Given the description of an element on the screen output the (x, y) to click on. 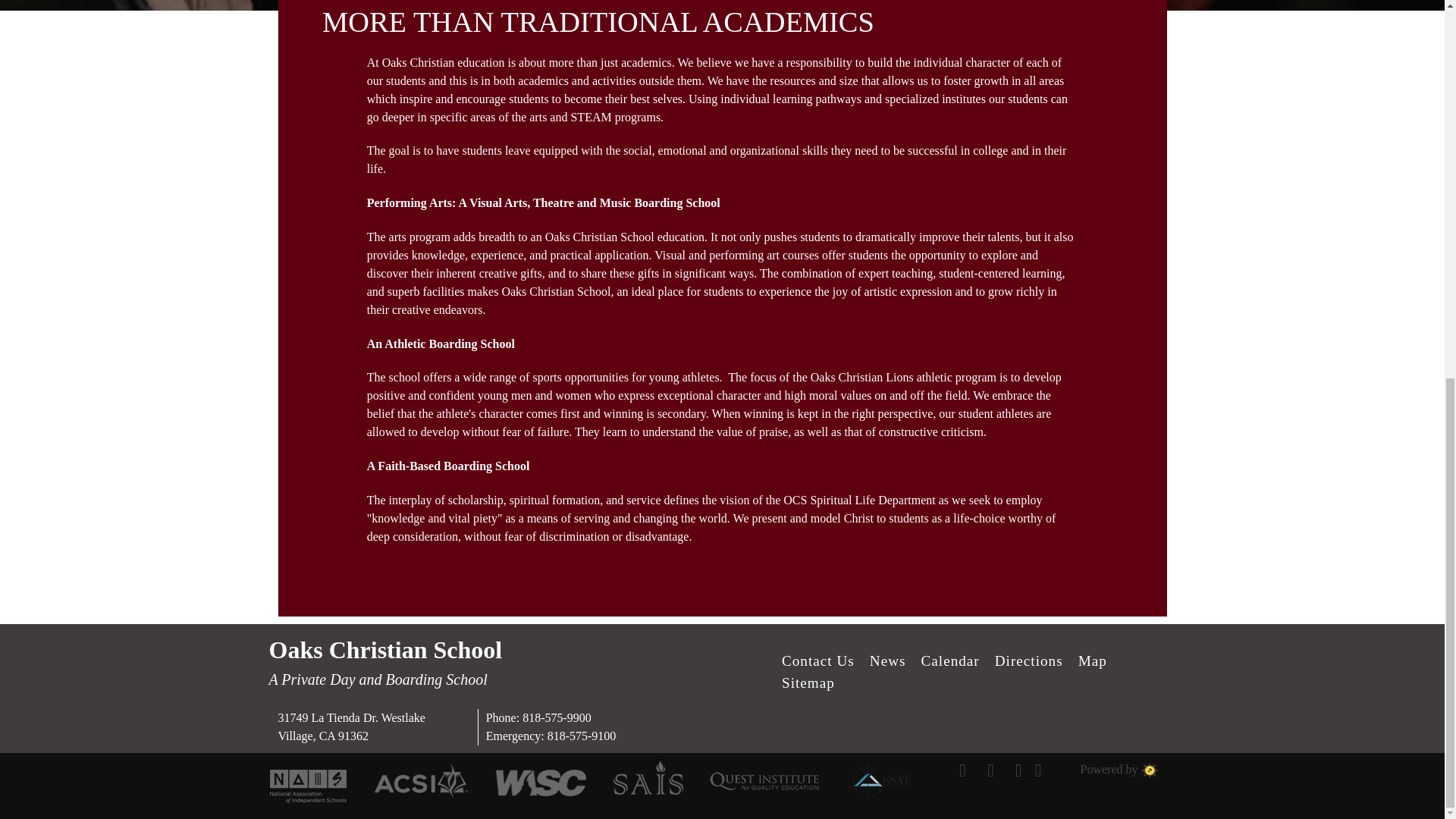
Contact Us (818, 660)
News (887, 660)
Map (1092, 660)
Calendar (949, 660)
Directions (1028, 660)
Oaks Christian School (384, 649)
Sitemap (808, 682)
Powered by (1119, 768)
